Given the description of an element on the screen output the (x, y) to click on. 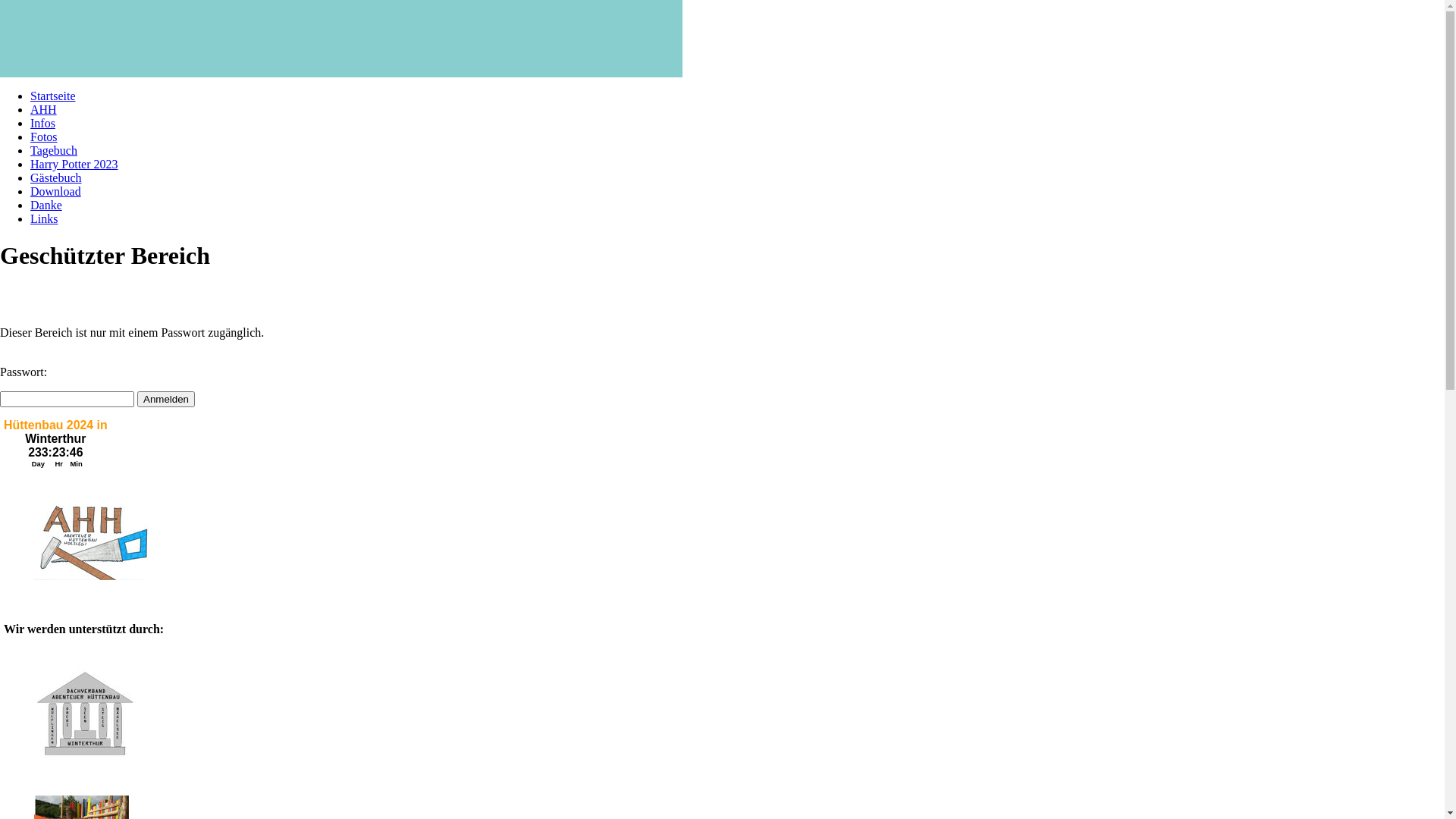
Download Element type: text (55, 191)
Links Element type: text (43, 218)
Harry Potter 2023 Element type: text (74, 163)
Infos Element type: text (42, 122)
Anmelden Element type: text (165, 399)
Tagebuch Element type: text (53, 150)
AHH Element type: text (43, 109)
Fotos Element type: text (43, 136)
Danke Element type: text (46, 204)
Startseite Element type: text (52, 95)
